Given the description of an element on the screen output the (x, y) to click on. 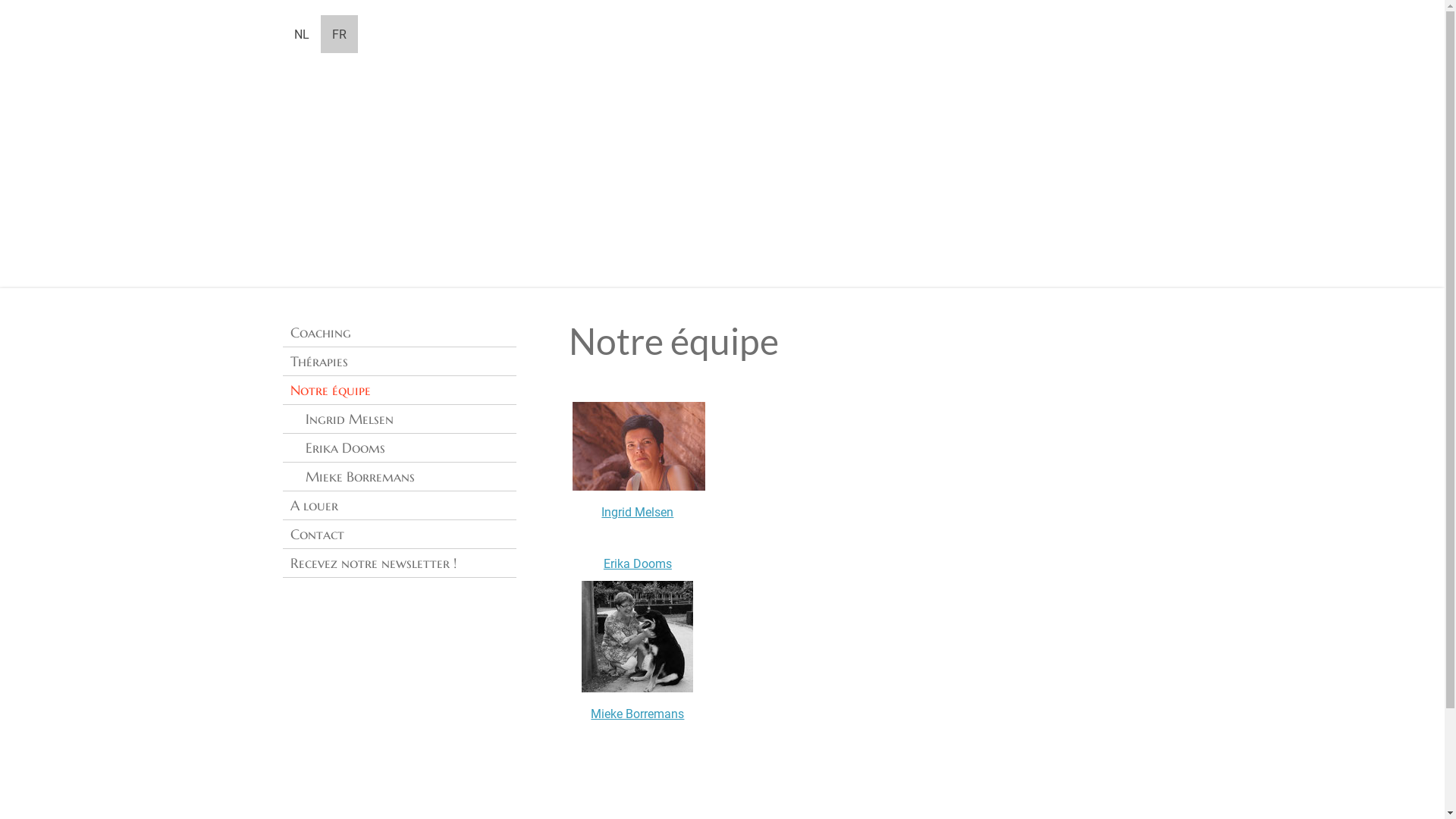
Mieke Borremans Element type: text (398, 476)
Mieke Borremans Element type: text (637, 713)
Ingrid Melsen Element type: text (398, 418)
A louer Element type: text (398, 505)
Coaching Element type: text (398, 332)
Ingrid Melsen Element type: text (637, 512)
FR Element type: text (338, 34)
Erika Dooms Element type: text (637, 563)
Erika Dooms Element type: text (398, 447)
Recevez notre newsletter ! Element type: text (398, 563)
Contact Element type: text (398, 534)
NL Element type: text (301, 34)
Awake grows ... Sesoon Element type: text (558, 192)
